Given the description of an element on the screen output the (x, y) to click on. 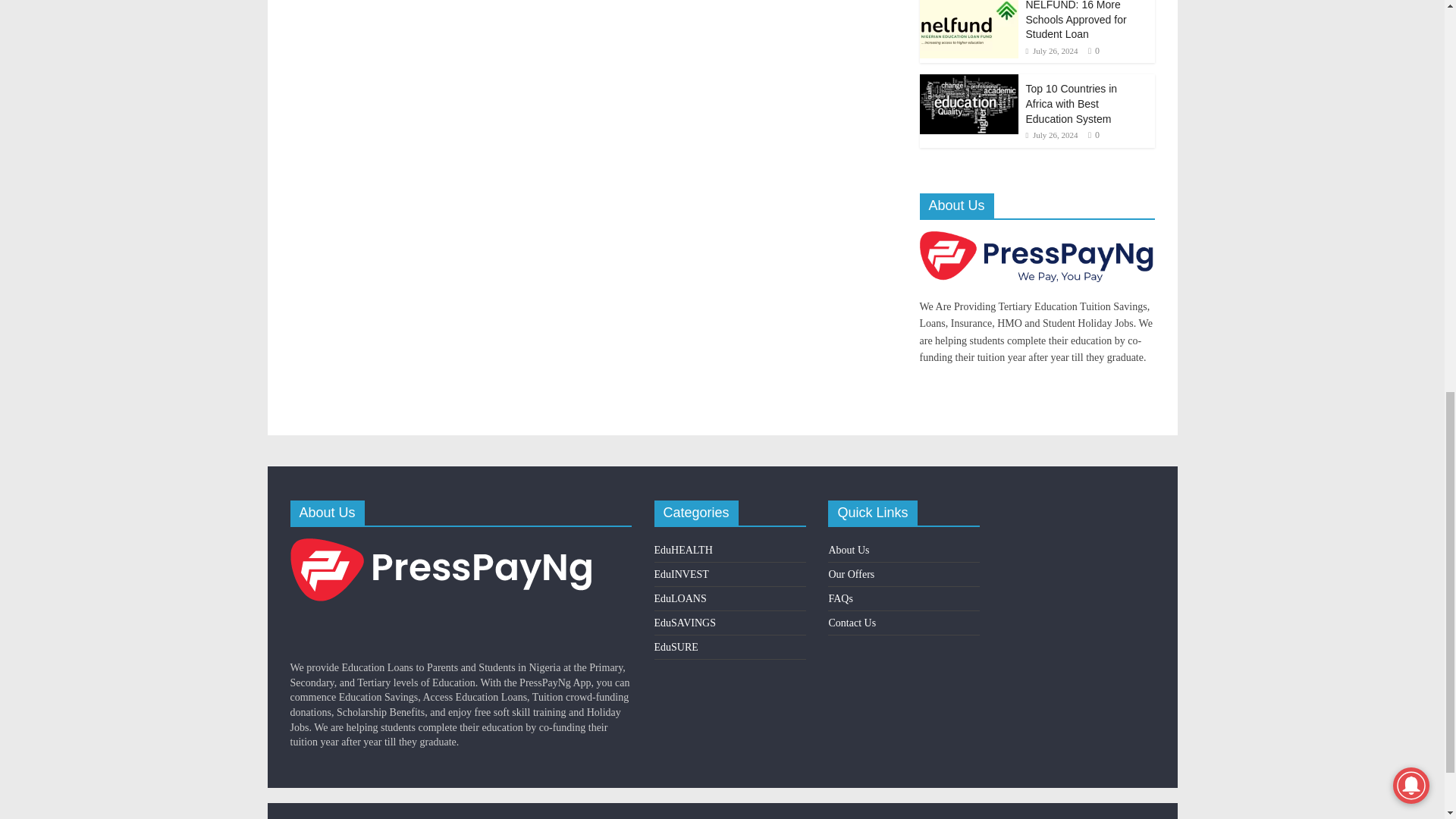
July 26, 2024 (1051, 50)
NELFUND: 16 More Schools Approved for Student Loan (1075, 20)
July 26, 2024 (1051, 134)
Top 10 Countries in Africa with Best Education System (1070, 103)
